Given the description of an element on the screen output the (x, y) to click on. 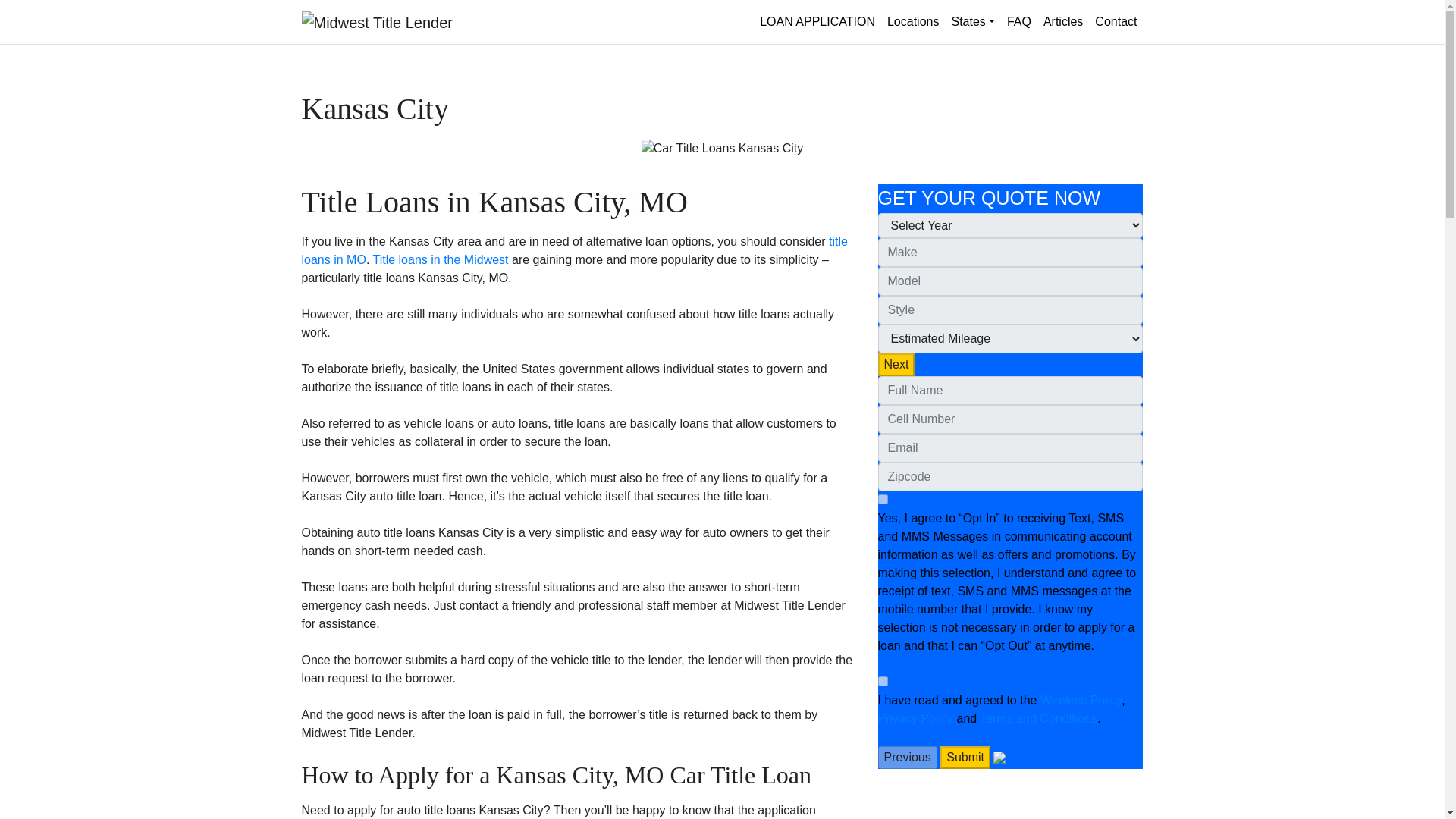
LOAN APPLICATION (817, 21)
Wireless Policy (1081, 698)
Application Privacy Policy (915, 717)
FAQ (1018, 21)
Terms and Conditions (1038, 717)
Articles (1062, 21)
Locations (912, 21)
yes (882, 681)
Articles (1062, 21)
Previous (907, 757)
LOAN APPLICATION (817, 21)
title loans in MO (574, 250)
States (972, 21)
Submit (965, 757)
States (972, 21)
